Given the description of an element on the screen output the (x, y) to click on. 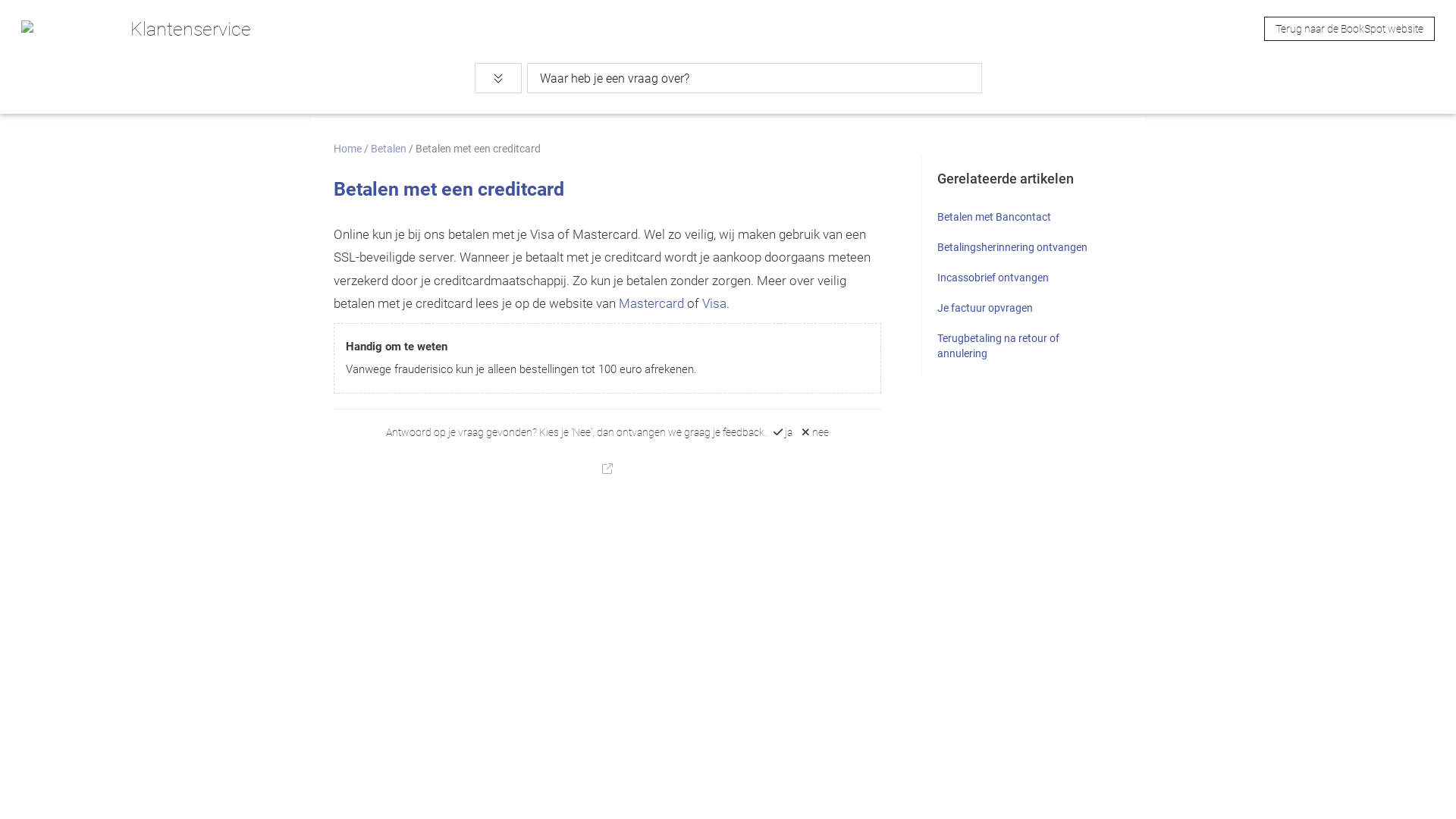
Home Element type: text (347, 148)
Betalen met Bancontact Element type: text (994, 216)
Terugbetaling na retour of annulering Element type: text (998, 345)
Je factuur opvragen Element type: text (984, 307)
Terug naar de BookSpot website Element type: text (1349, 28)
presenteer dit item in een extern venster Element type: hover (607, 468)
Betalingsherinnering ontvangen Element type: text (1012, 247)
Incassobrief ontvangen Element type: text (992, 277)
Visa Element type: text (714, 302)
Mastercard Element type: text (651, 302)
Betalen Element type: text (388, 148)
